Given the description of an element on the screen output the (x, y) to click on. 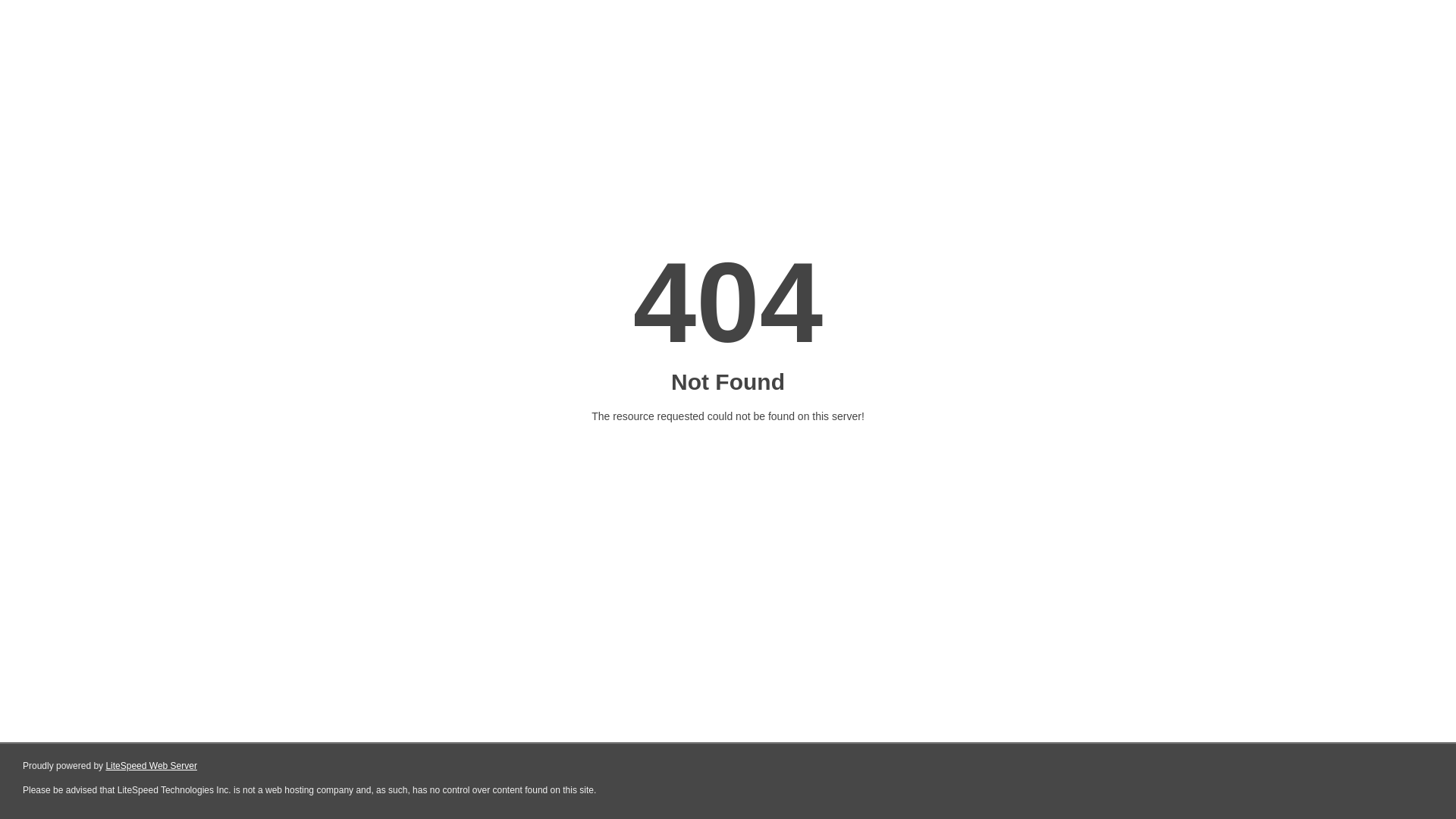
LiteSpeed Web Server Element type: text (151, 765)
